Given the description of an element on the screen output the (x, y) to click on. 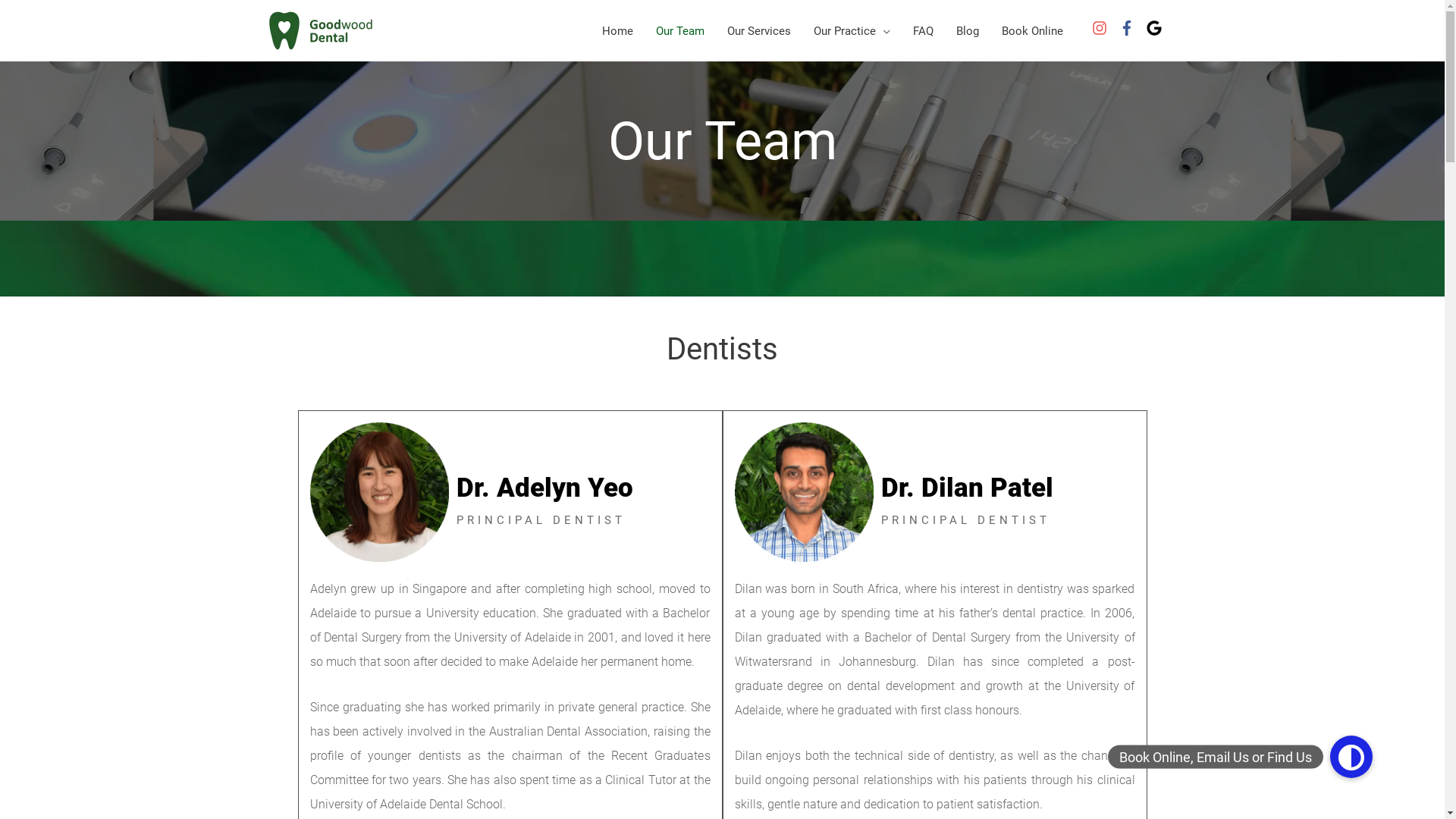
Book Online, Email Us or Find Us Element type: text (1351, 756)
Home Element type: text (617, 30)
FAQ Element type: text (922, 30)
Our Practice Element type: text (851, 30)
Our Team Element type: text (679, 30)
Blog Element type: text (967, 30)
Our Services Element type: text (758, 30)
Book Online Element type: text (1032, 30)
